Given the description of an element on the screen output the (x, y) to click on. 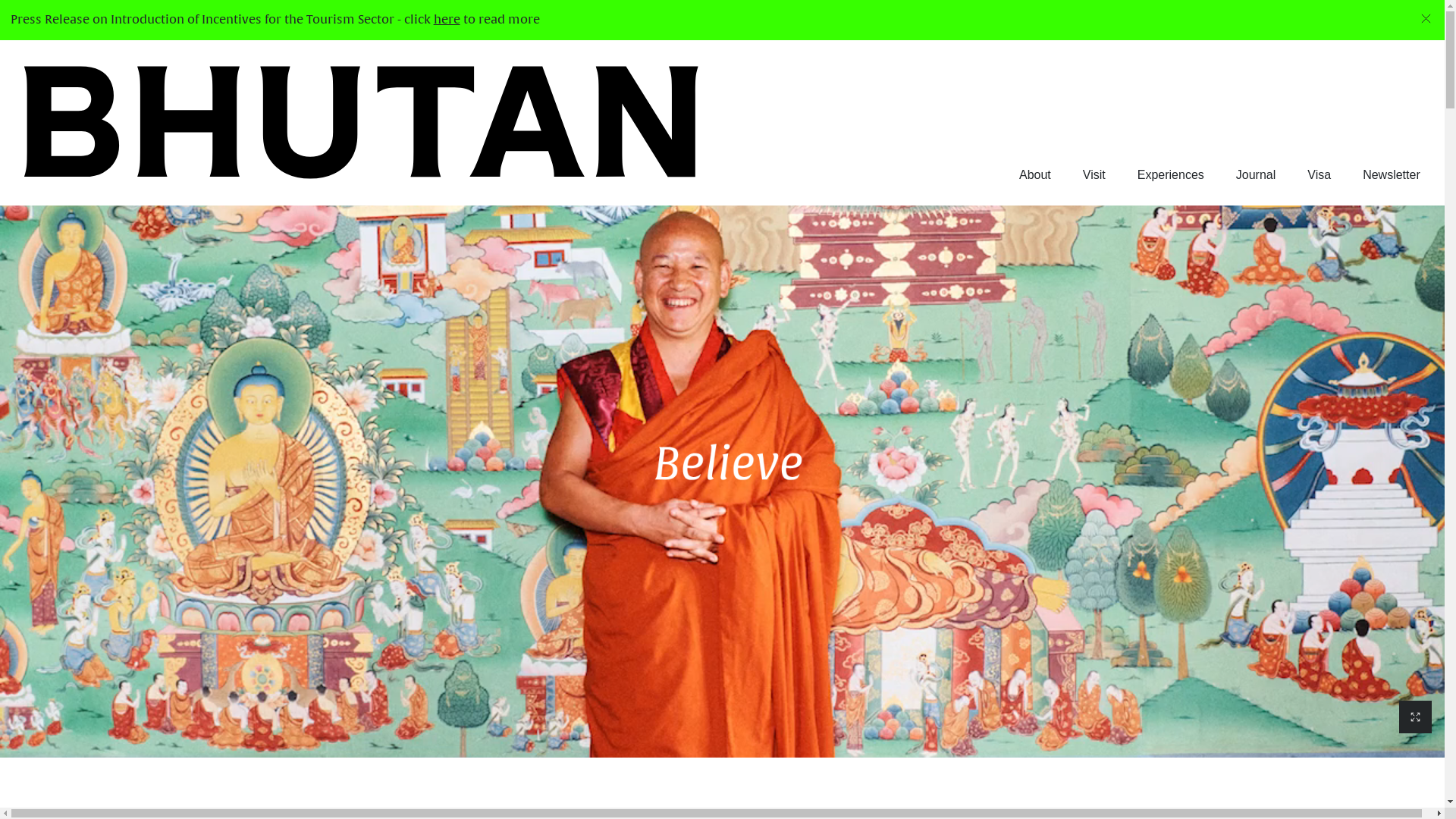
Visit Element type: text (1093, 175)
About Element type: text (1035, 175)
Visa Element type: text (1319, 175)
Experiences Element type: text (1170, 175)
here Element type: text (446, 18)
Journal Element type: text (1255, 175)
Newsletter Element type: text (1391, 175)
